Given the description of an element on the screen output the (x, y) to click on. 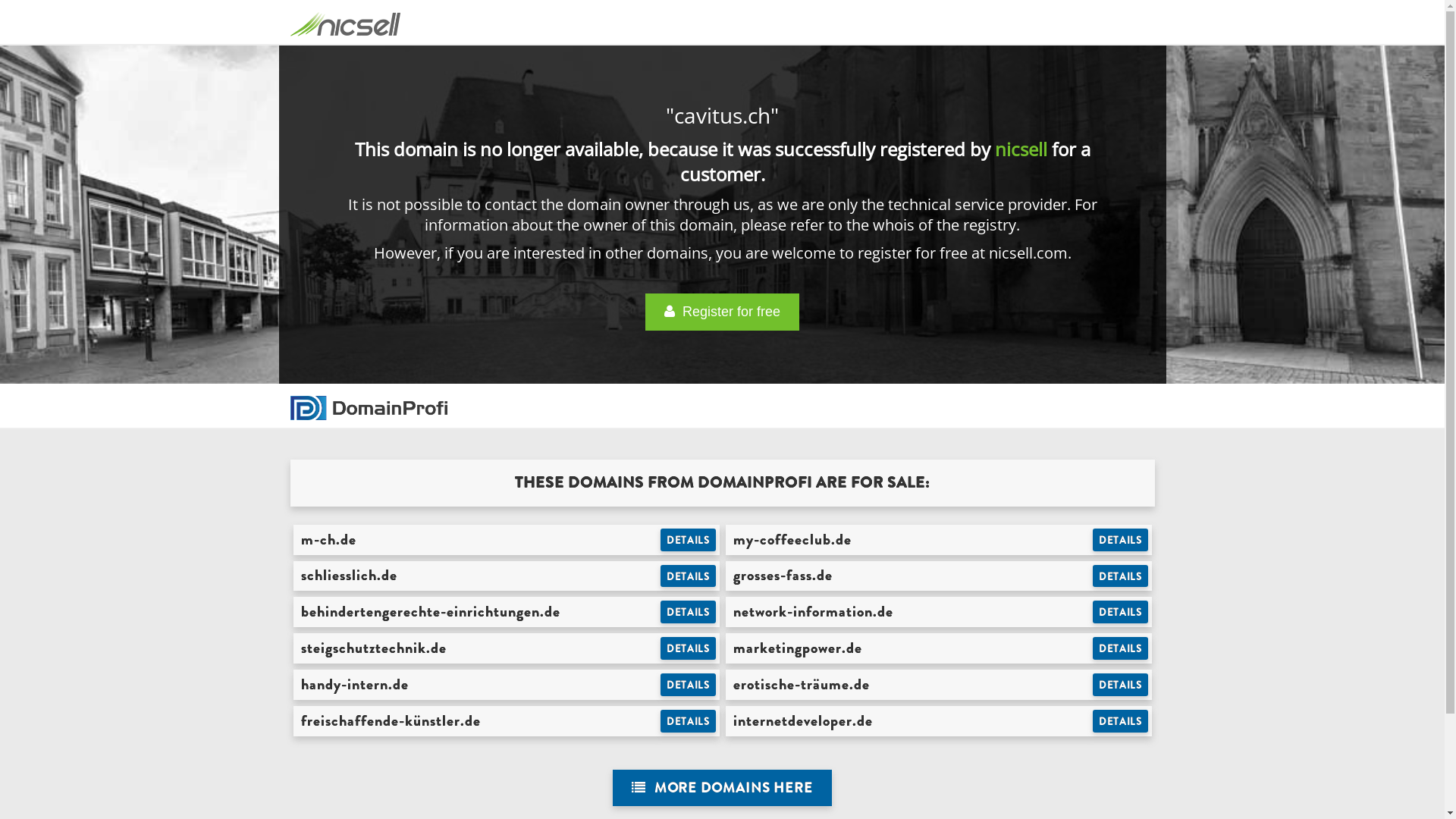
  MORE DOMAINS HERE Element type: text (721, 787)
DETAILS Element type: text (687, 539)
DETAILS Element type: text (687, 648)
DETAILS Element type: text (1120, 648)
DETAILS Element type: text (687, 684)
DETAILS Element type: text (1120, 539)
DETAILS Element type: text (687, 575)
DETAILS Element type: text (1120, 684)
DETAILS Element type: text (1120, 611)
nicsell Element type: text (1020, 148)
DETAILS Element type: text (1120, 720)
DETAILS Element type: text (1120, 575)
  Register for free Element type: text (722, 311)
DETAILS Element type: text (687, 720)
DETAILS Element type: text (687, 611)
